Given the description of an element on the screen output the (x, y) to click on. 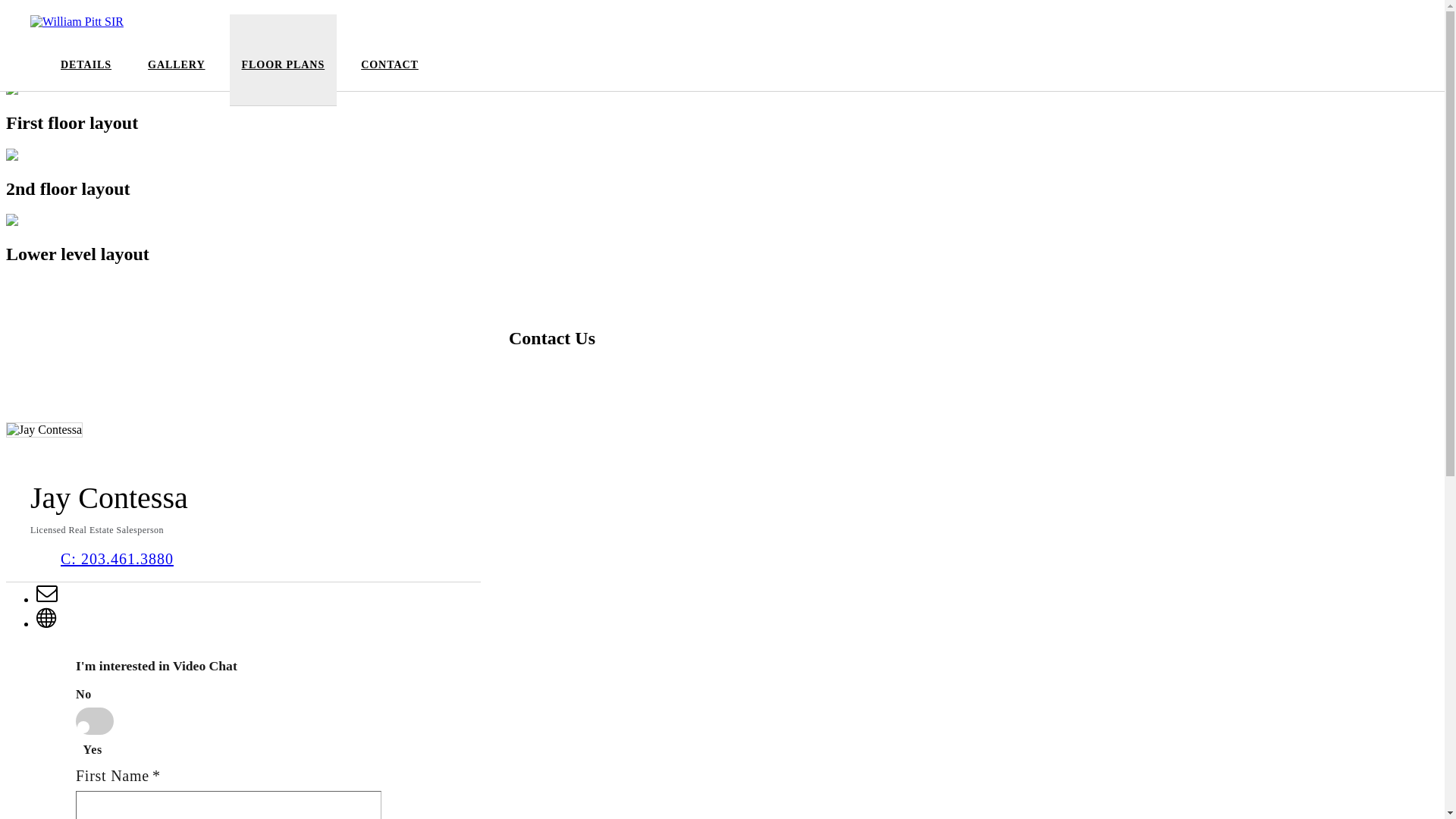
Jay Contessa Element type: hover (44, 429)
Email Element type: hover (46, 599)
Website Element type: hover (46, 623)
C: 203.461.3880 Element type: text (116, 558)
DETAILS Element type: text (85, 73)
William Pitt SIR Element type: hover (76, 21)
CONTACT Element type: text (389, 73)
GALLERY Element type: text (175, 73)
FLOOR PLANS Element type: text (283, 73)
